Given the description of an element on the screen output the (x, y) to click on. 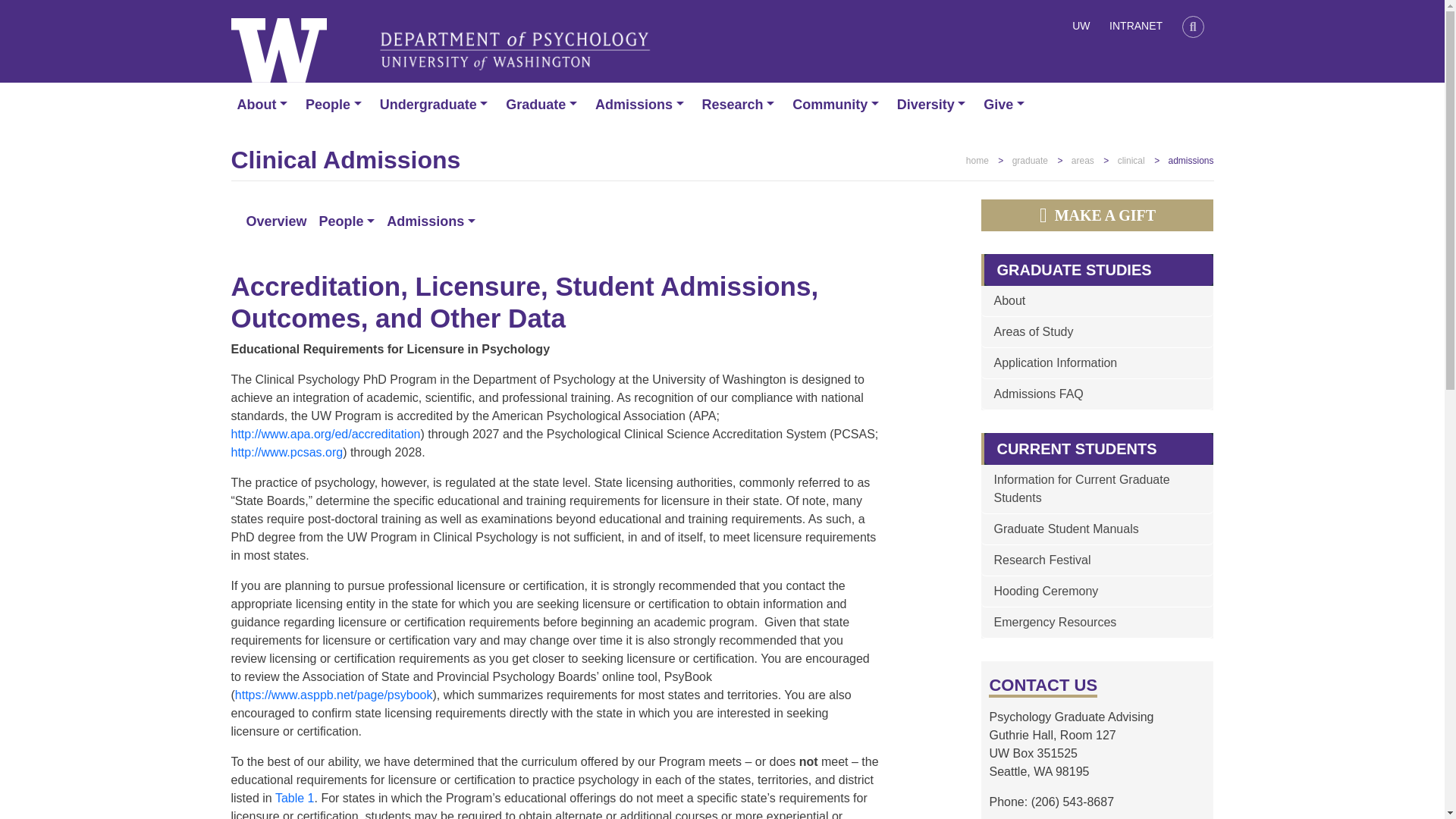
Search Button (1193, 28)
UW Homepage (1080, 28)
Search Button (1193, 26)
INTRANET (1135, 28)
Graduate (544, 104)
Undergraduate (437, 104)
UW (1080, 28)
About (264, 104)
Research (741, 104)
Admissions (642, 104)
